Given the description of an element on the screen output the (x, y) to click on. 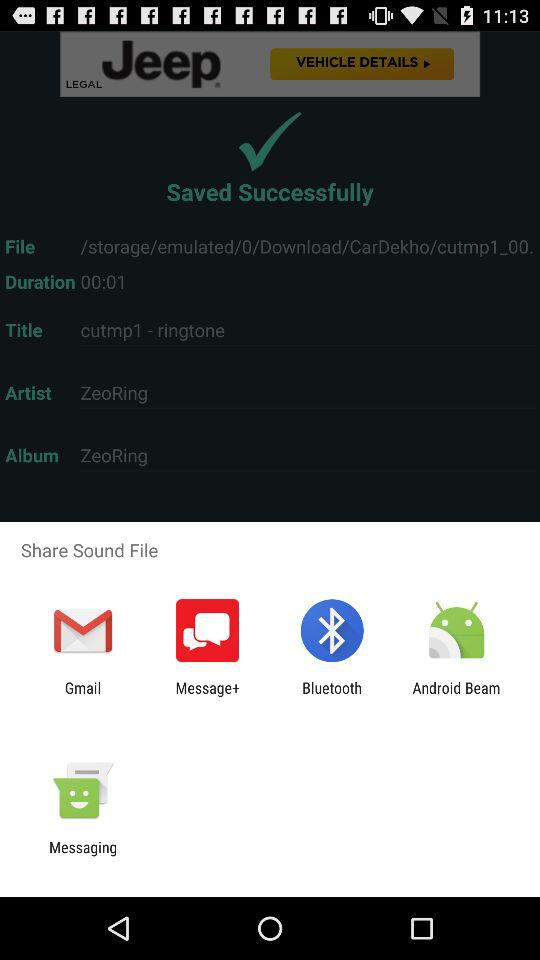
scroll to the messaging item (83, 856)
